Given the description of an element on the screen output the (x, y) to click on. 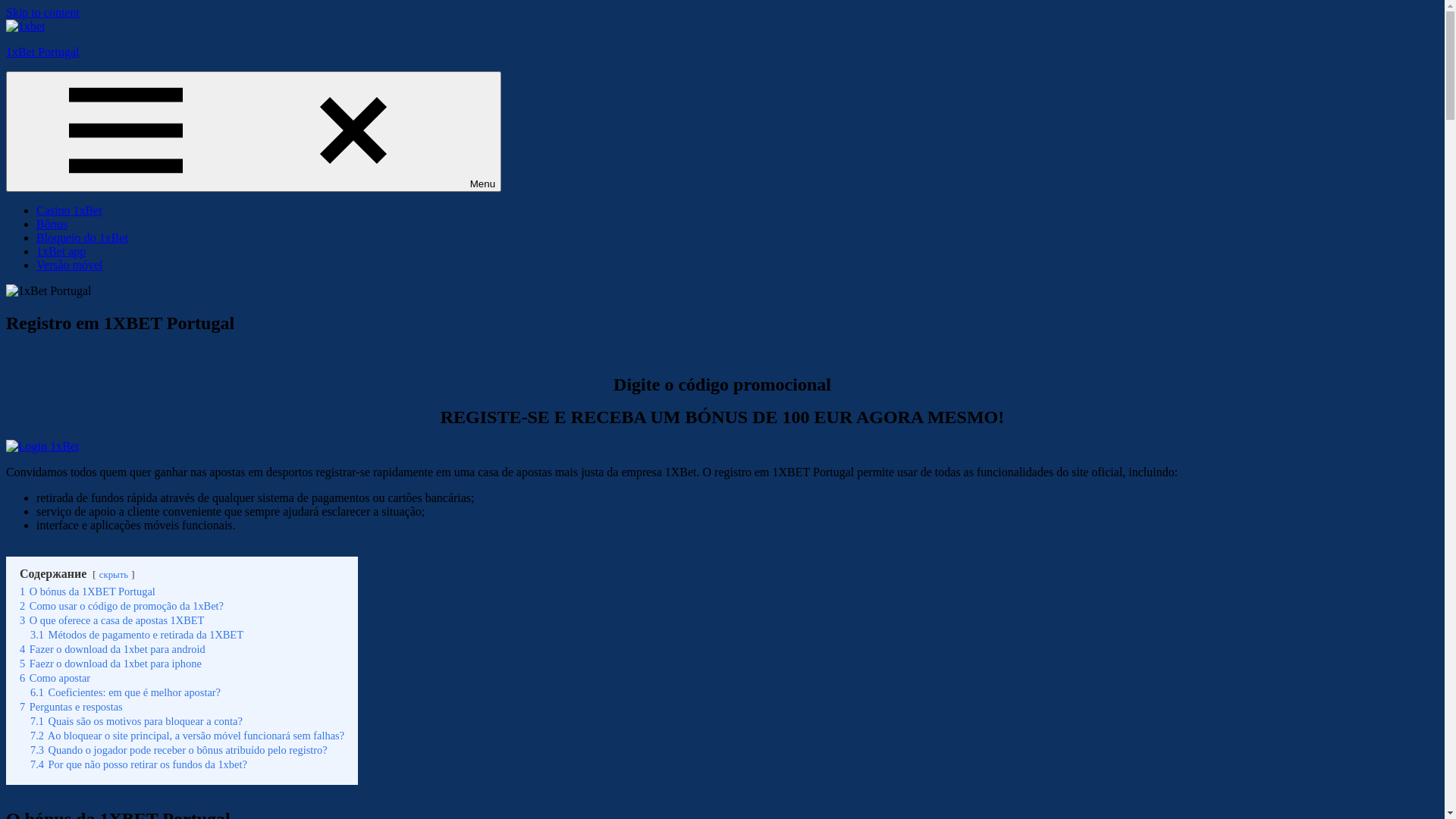
Skip to content Element type: text (42, 12)
Casino 1xBet Element type: text (69, 209)
1xBet app Element type: text (60, 250)
1xBet Portugal Element type: text (42, 51)
Login 1xBet Element type: hover (42, 446)
4 Fazer o download da 1xbet para android Element type: text (112, 649)
3 O que oferece a casa de apostas 1XBET Element type: text (111, 620)
Menu Element type: text (253, 131)
6 Como apostar Element type: text (54, 677)
5 Faezr o download da 1xbet para iphone Element type: text (110, 663)
7 Perguntas e respostas Element type: text (70, 706)
Bloqueio do 1xBet Element type: text (82, 237)
